Given the description of an element on the screen output the (x, y) to click on. 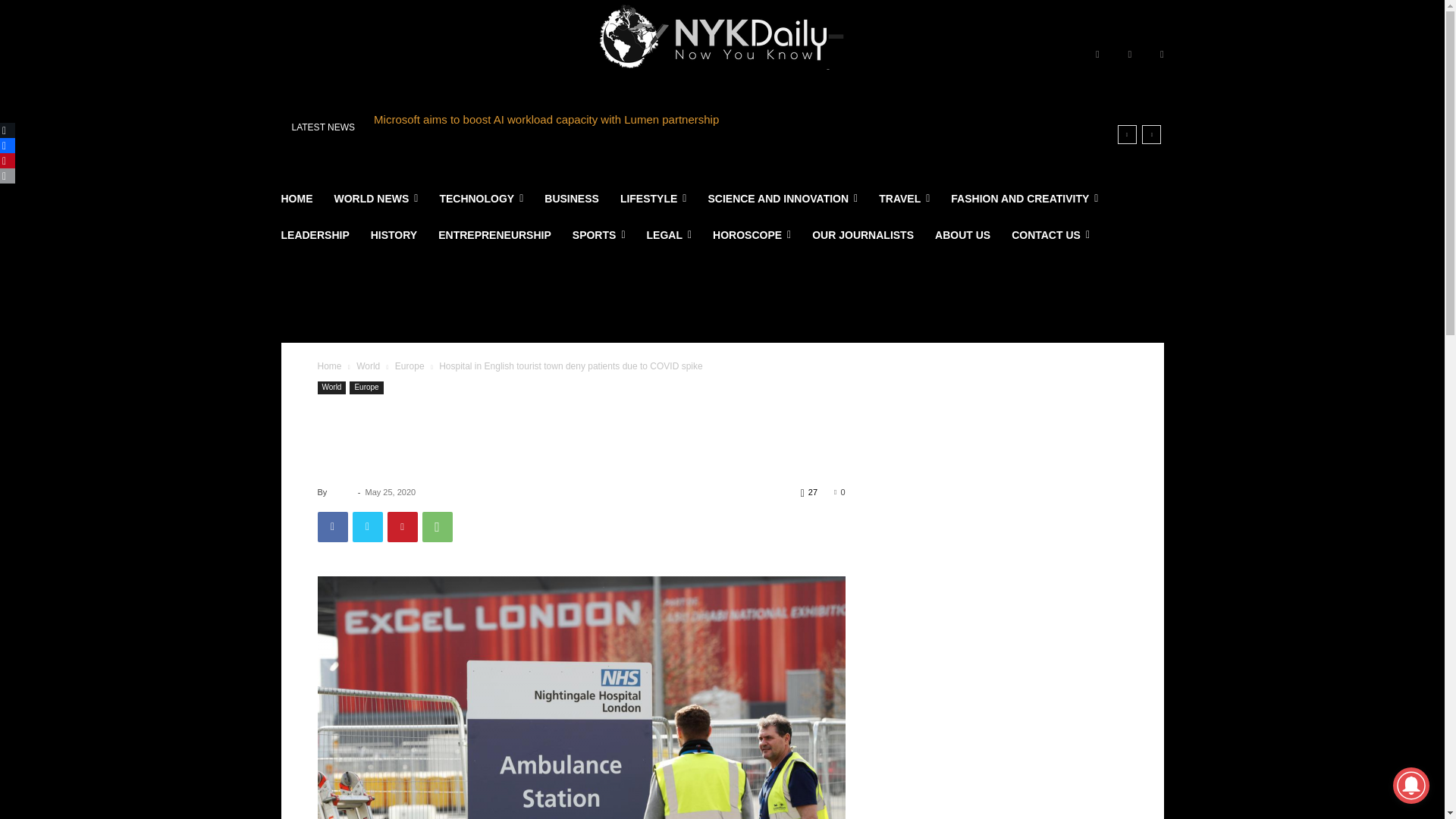
Twitter (1162, 54)
Facebook (1096, 54)
Instagram (1130, 54)
